Given the description of an element on the screen output the (x, y) to click on. 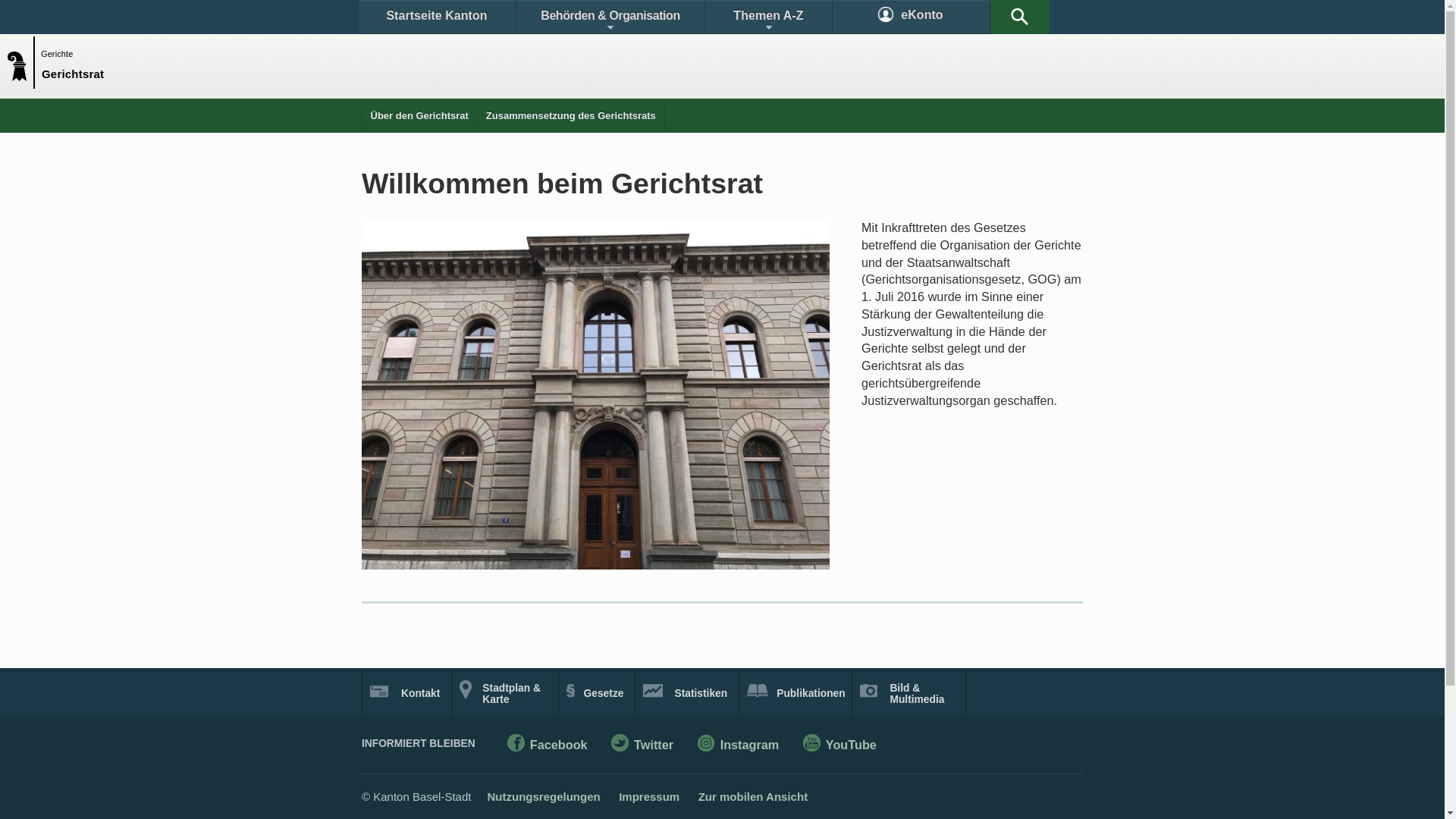
Gesetze Element type: text (597, 693)
Nutzungsregelungen Element type: text (542, 796)
YouTube Element type: text (839, 746)
Bild & Multimedia Element type: text (908, 693)
Stadtplan & Karte Element type: text (504, 693)
Publikationen Element type: text (795, 693)
Zur mobilen Ansicht Element type: text (752, 796)
Themen A-Z Element type: text (768, 17)
eKonto Element type: text (910, 17)
Statistiken Element type: text (687, 693)
Impressum Element type: text (648, 796)
Startseite Kanton Element type: text (435, 17)
Facebook Element type: text (547, 746)
Kontakt Element type: text (406, 693)
Zusammensetzung des Gerichtsrats Element type: text (570, 115)
Instagram Element type: text (738, 746)
Twitter Element type: text (642, 746)
